Given the description of an element on the screen output the (x, y) to click on. 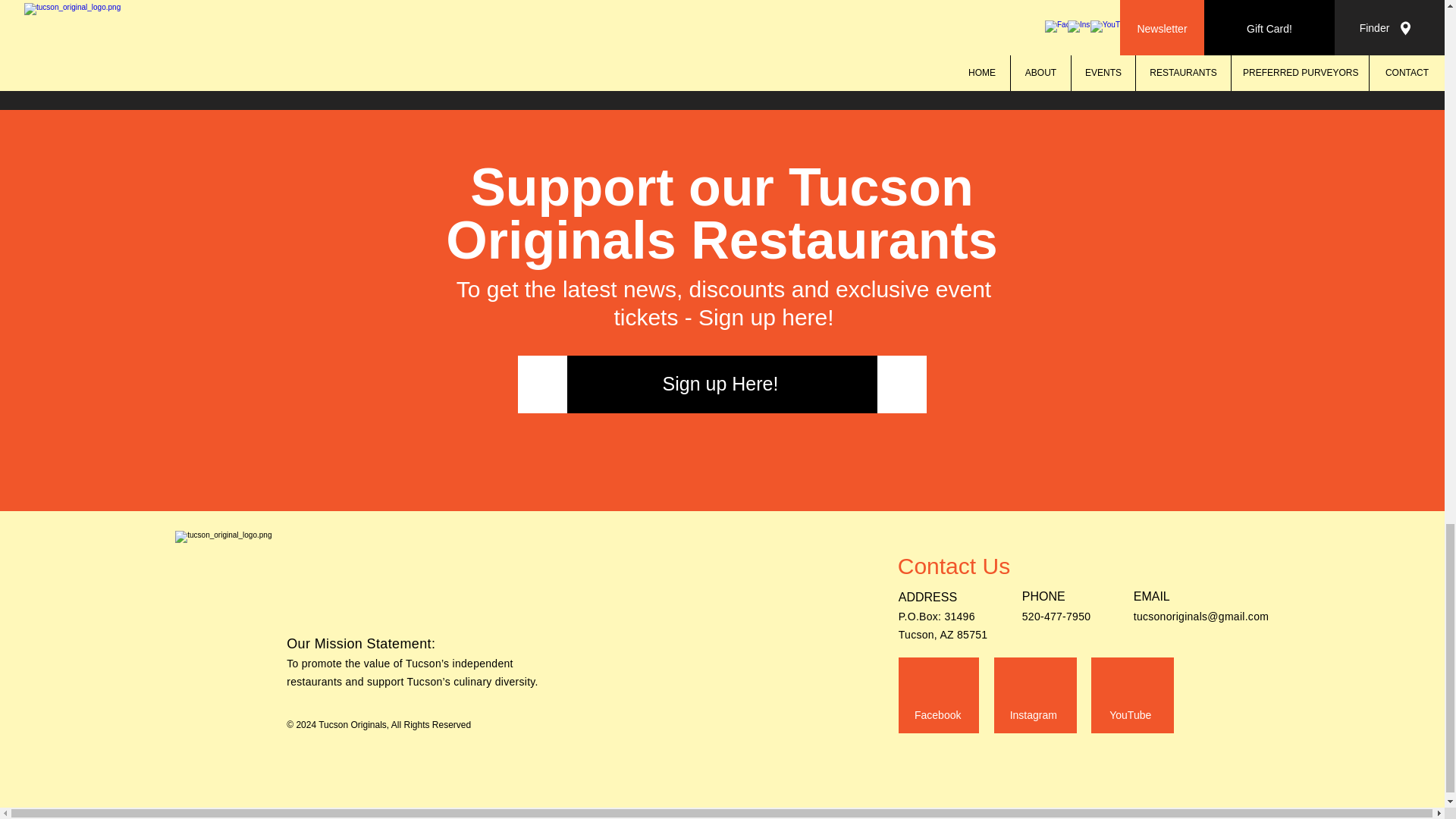
Post not marked as liked (804, 37)
0 (440, 37)
Facebook (938, 716)
0 (685, 37)
Post not marked as liked (558, 37)
Instagram (1033, 716)
YouTube (1130, 716)
Sign up Here! (722, 384)
